Given the description of an element on the screen output the (x, y) to click on. 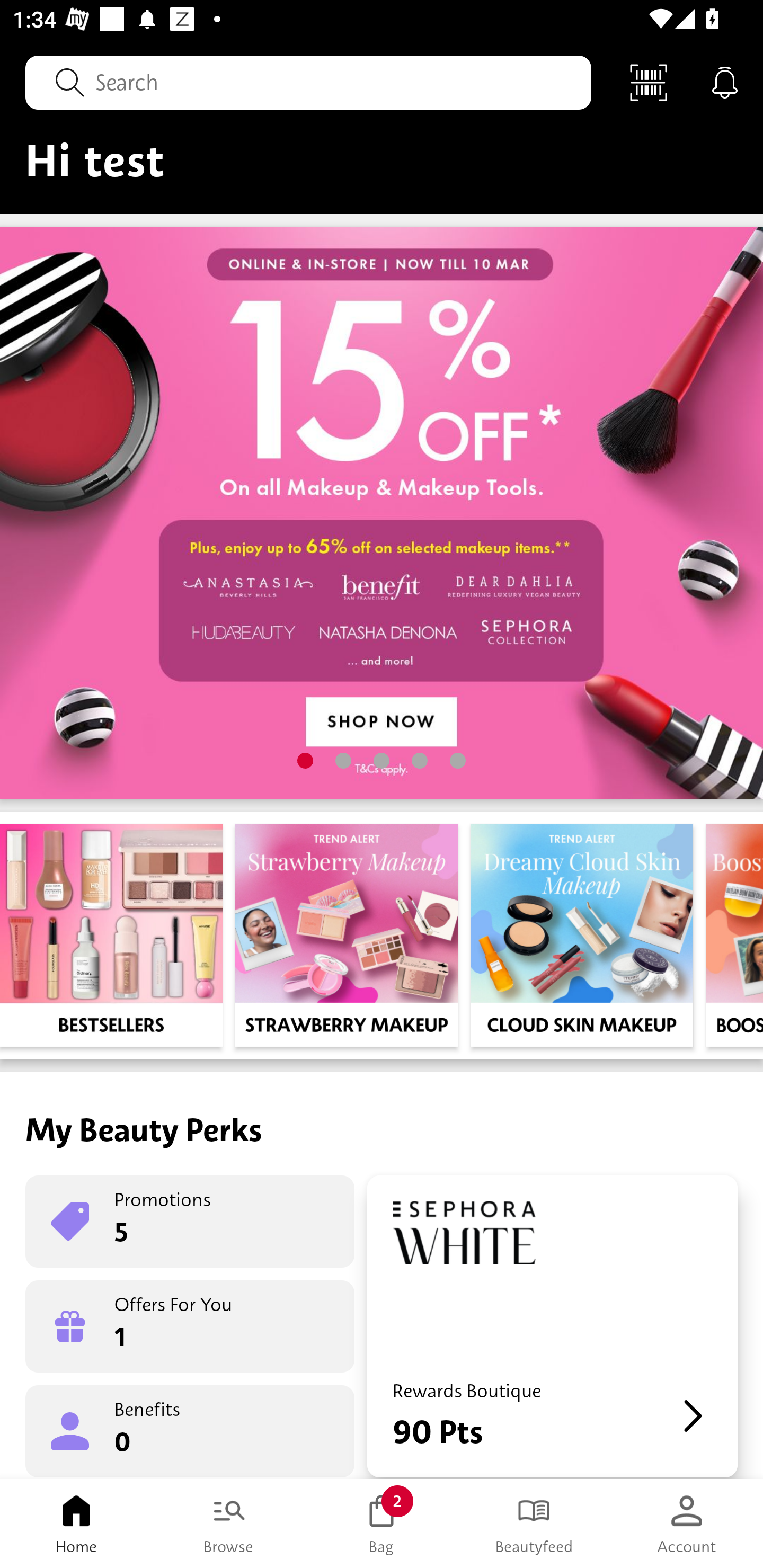
Scan Code (648, 81)
Notifications (724, 81)
Search (308, 81)
Promotions 5 (189, 1221)
Rewards Boutique 90 Pts (552, 1326)
Offers For You 1 (189, 1326)
Benefits 0 (189, 1430)
Browse (228, 1523)
Bag 2 Bag (381, 1523)
Beautyfeed (533, 1523)
Account (686, 1523)
